Given the description of an element on the screen output the (x, y) to click on. 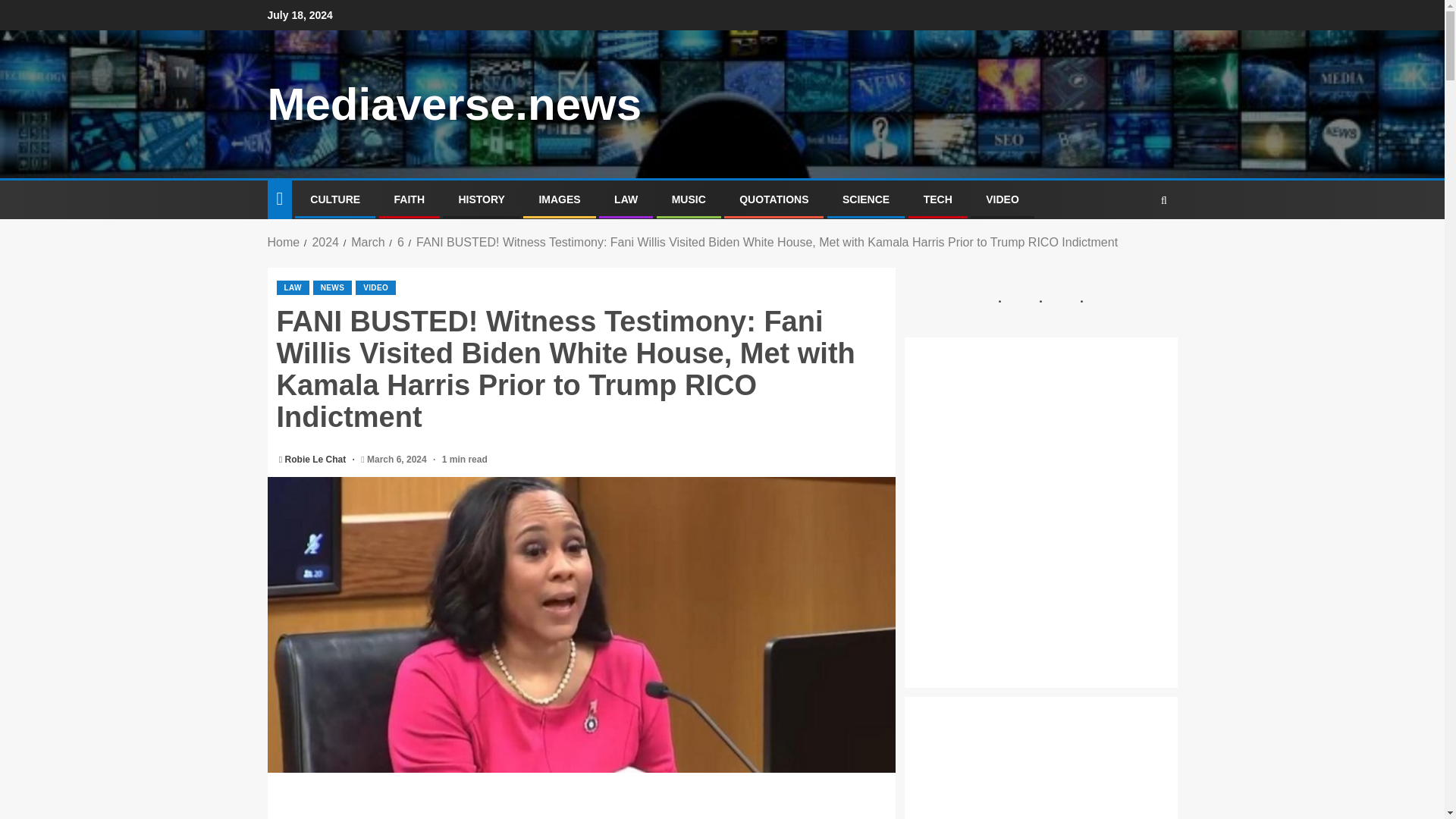
Robie Le Chat (317, 459)
HISTORY (480, 199)
LAW (292, 287)
March (367, 241)
VIDEO (1002, 199)
LAW (625, 199)
IMAGES (558, 199)
CULTURE (334, 199)
Home (282, 241)
QUOTATIONS (773, 199)
Mediaverse.news (454, 103)
SCIENCE (866, 199)
2024 (325, 241)
MUSIC (688, 199)
